Given the description of an element on the screen output the (x, y) to click on. 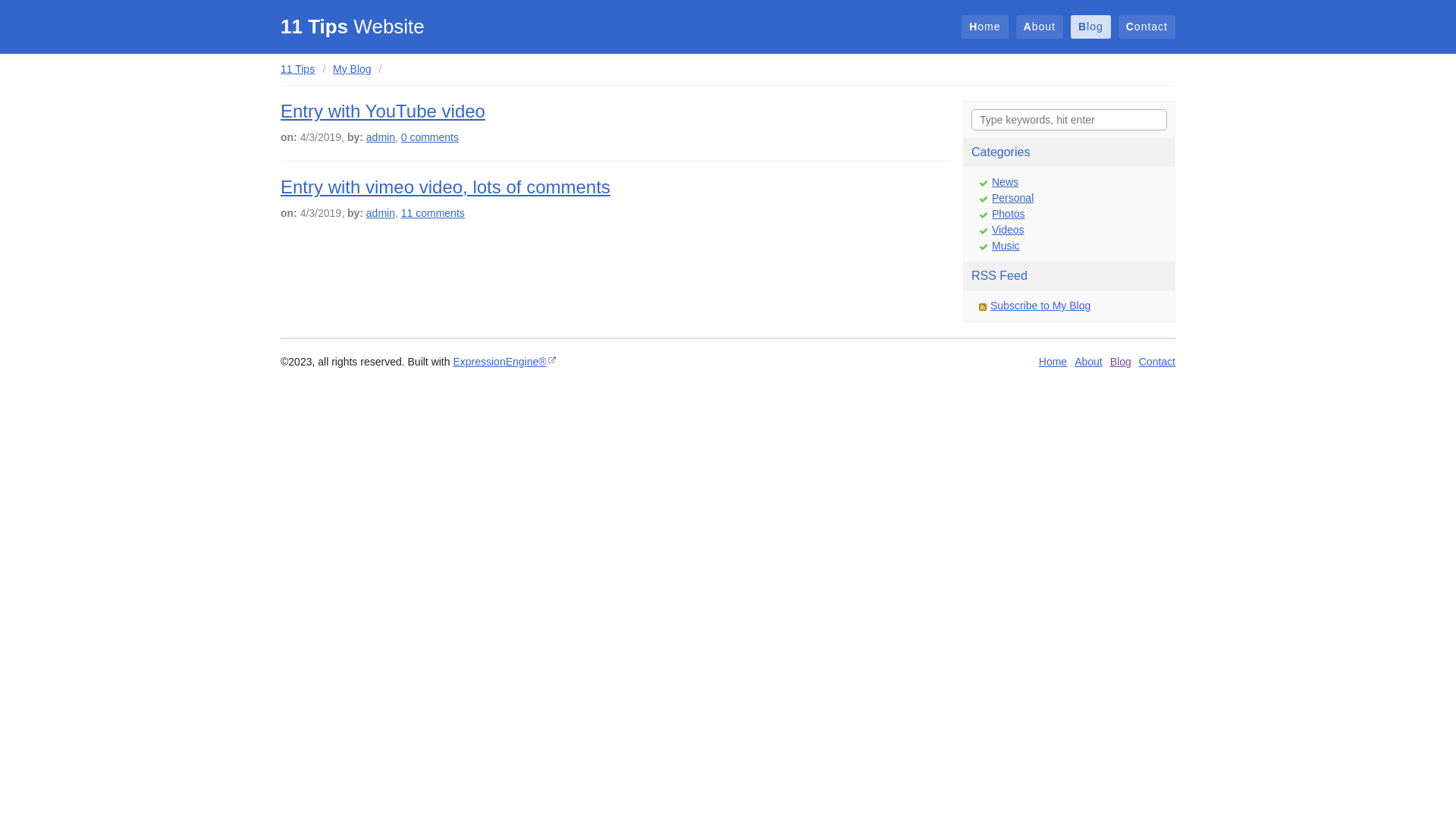
Blog Element type: text (1120, 361)
About Element type: text (1088, 361)
My Blog Element type: text (351, 68)
Entry with vimeo video, lots of comments Element type: text (445, 186)
0 comments Element type: text (429, 137)
Home Element type: text (984, 26)
Entry with YouTube video Element type: text (382, 110)
Photos Element type: text (1008, 213)
admin Element type: text (380, 137)
11 Tips Website Element type: text (352, 26)
admin Element type: text (380, 213)
Music Element type: text (1005, 245)
Personal Element type: text (1012, 197)
Subscribe to My Blog Element type: text (1040, 305)
Home Element type: text (1052, 361)
11 Tips Element type: text (297, 68)
Contact Element type: text (1146, 26)
News Element type: text (1004, 181)
Videos Element type: text (1007, 229)
Contact Element type: text (1157, 361)
11 comments Element type: text (432, 213)
Blog Element type: text (1090, 26)
About Element type: text (1039, 26)
